Given the description of an element on the screen output the (x, y) to click on. 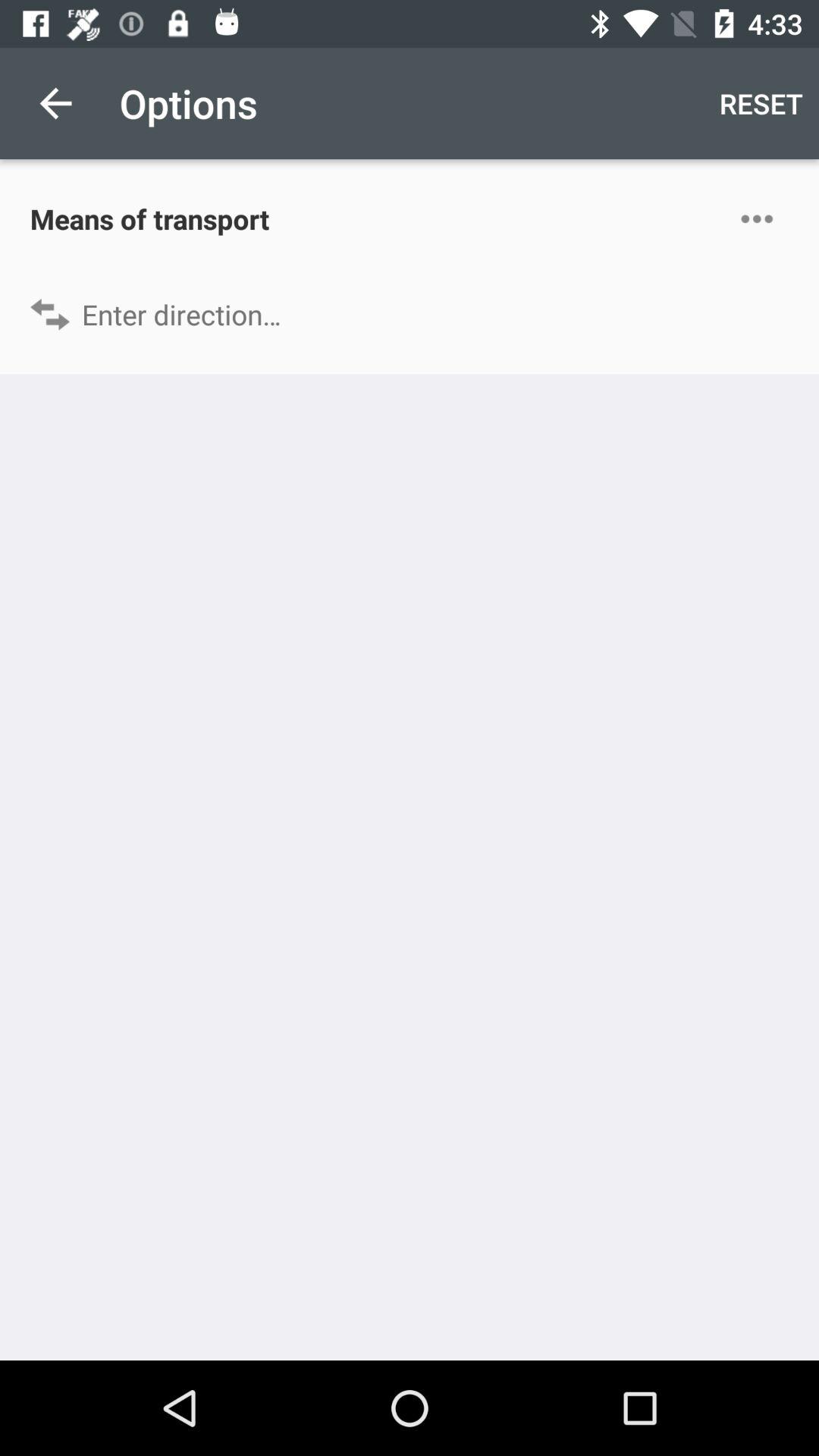
enter direction (409, 314)
